Given the description of an element on the screen output the (x, y) to click on. 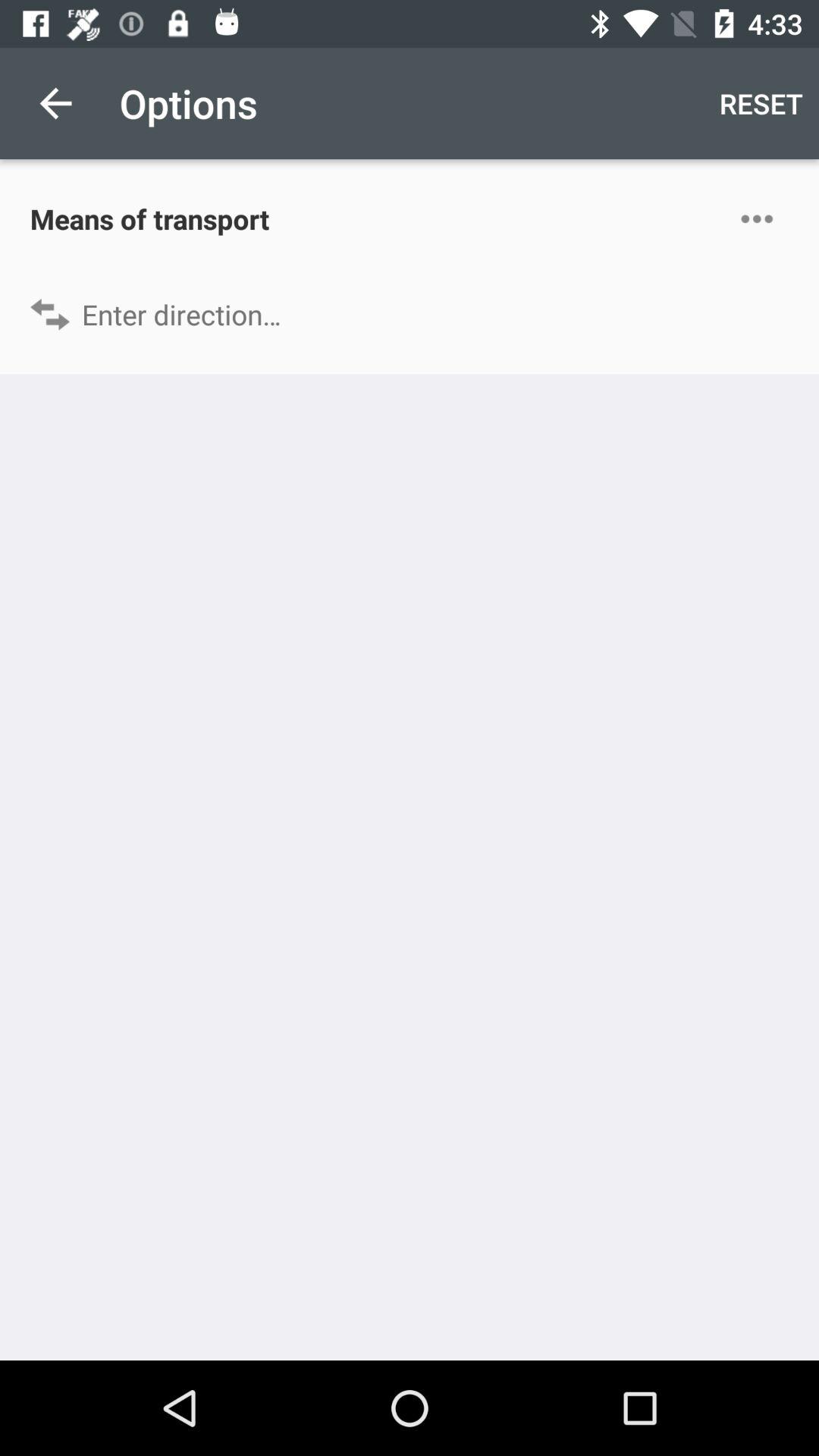
enter direction (409, 314)
